Given the description of an element on the screen output the (x, y) to click on. 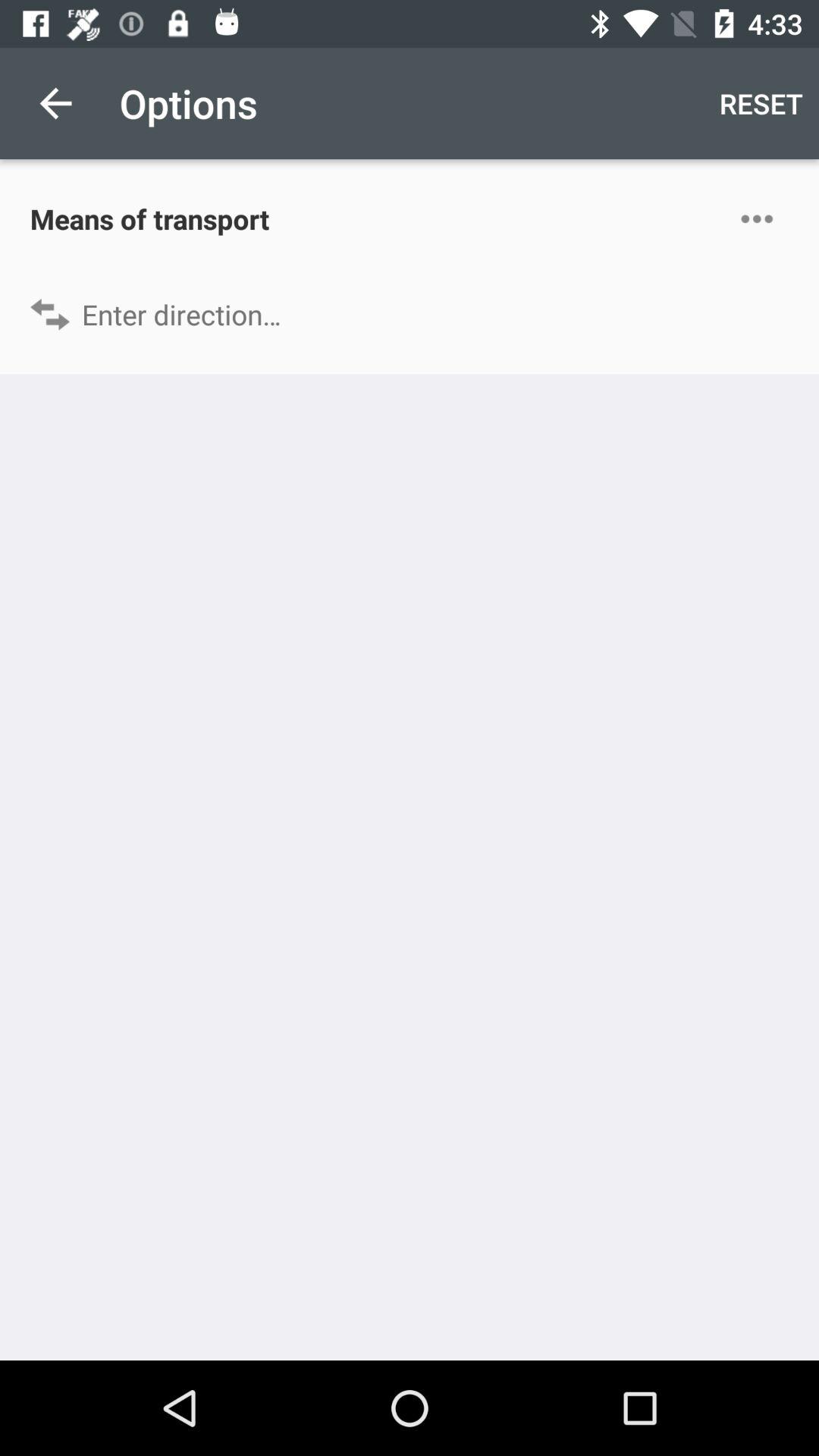
enter direction (409, 314)
